Given the description of an element on the screen output the (x, y) to click on. 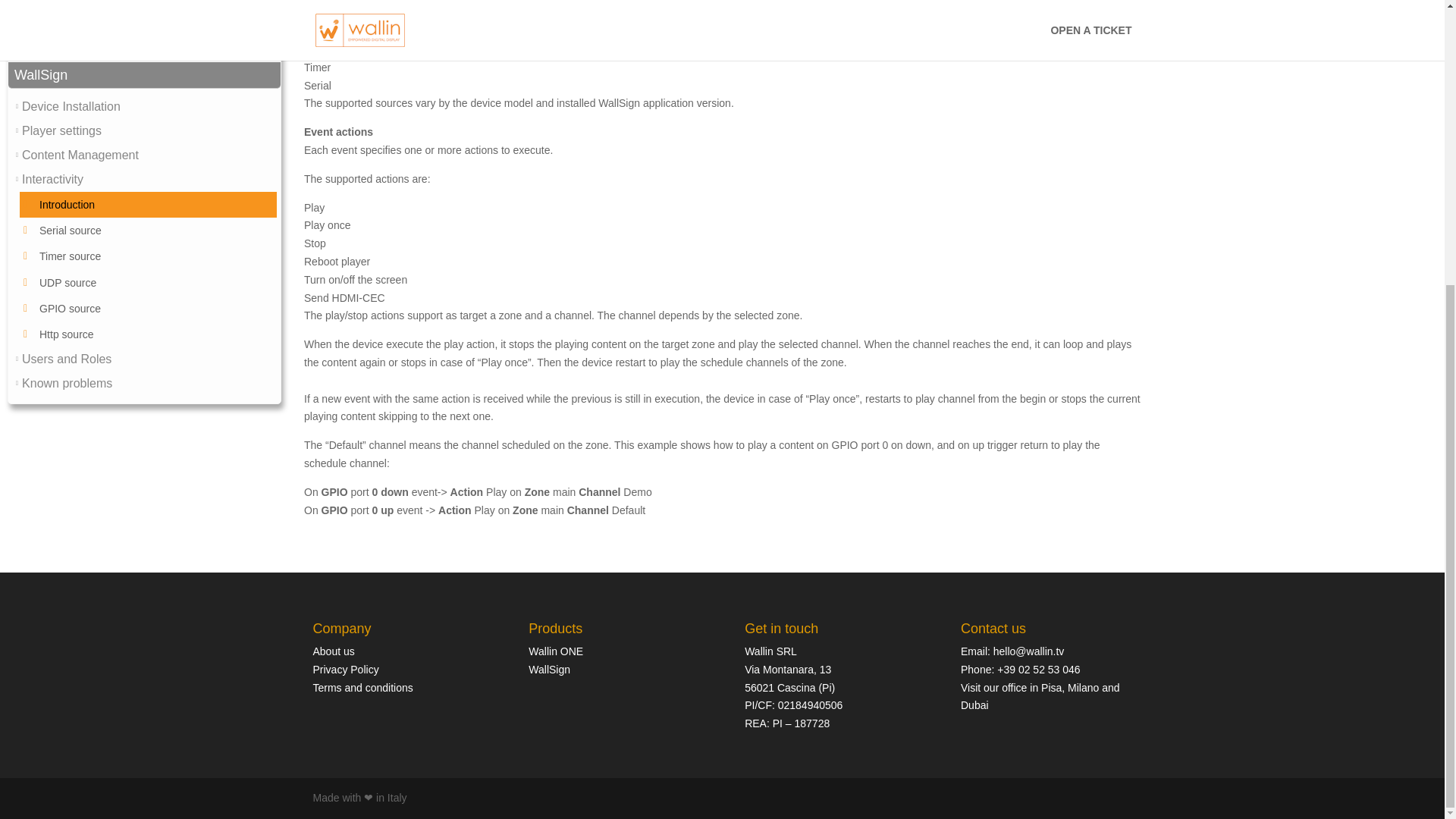
Applicazioni (53, 18)
